Given the description of an element on the screen output the (x, y) to click on. 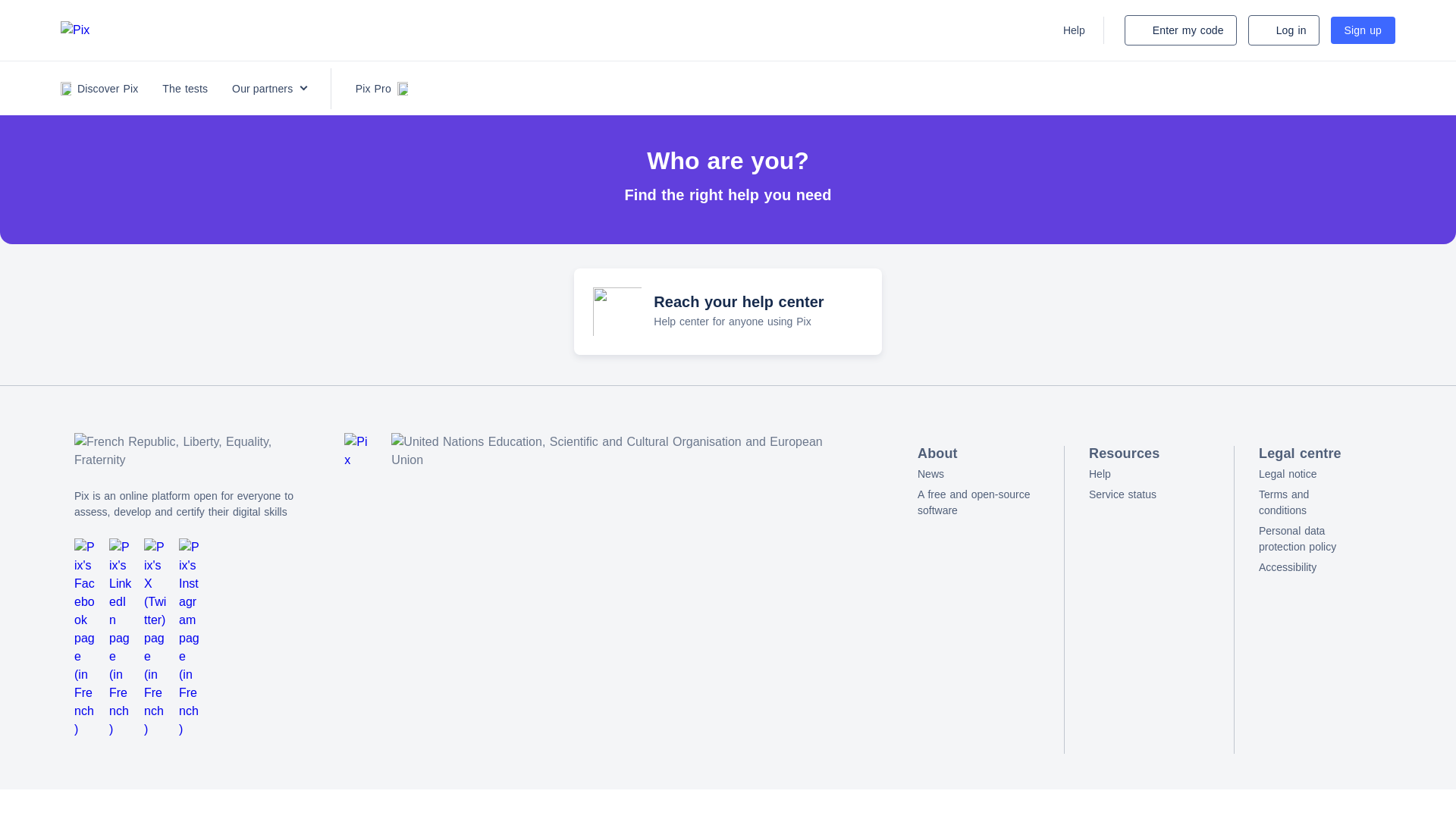
Terms and conditions (1307, 502)
Log in (1283, 30)
Enter my code (1180, 30)
Legal notice (1307, 474)
A free and open-source software (978, 502)
Help (1149, 474)
Sign up (1362, 30)
Personal data protection policy (726, 311)
Discover Pix (1307, 539)
